Given the description of an element on the screen output the (x, y) to click on. 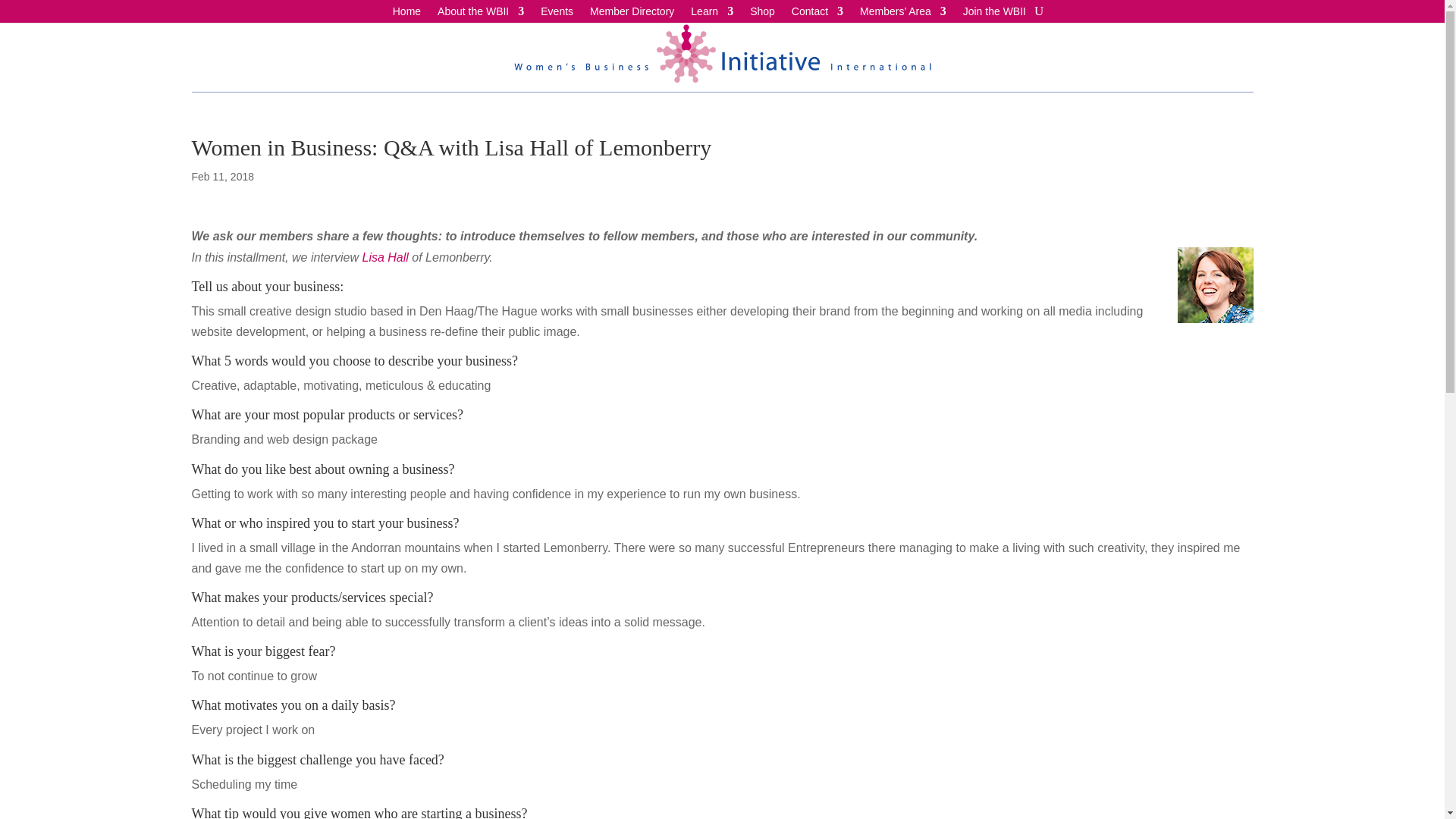
About the WBII (481, 13)
Lisa Hall (384, 256)
Home (406, 13)
Contact (817, 13)
Events (556, 13)
Learn (711, 13)
Member Directory (631, 13)
Shop (761, 13)
Join the WBII (994, 13)
